Given the description of an element on the screen output the (x, y) to click on. 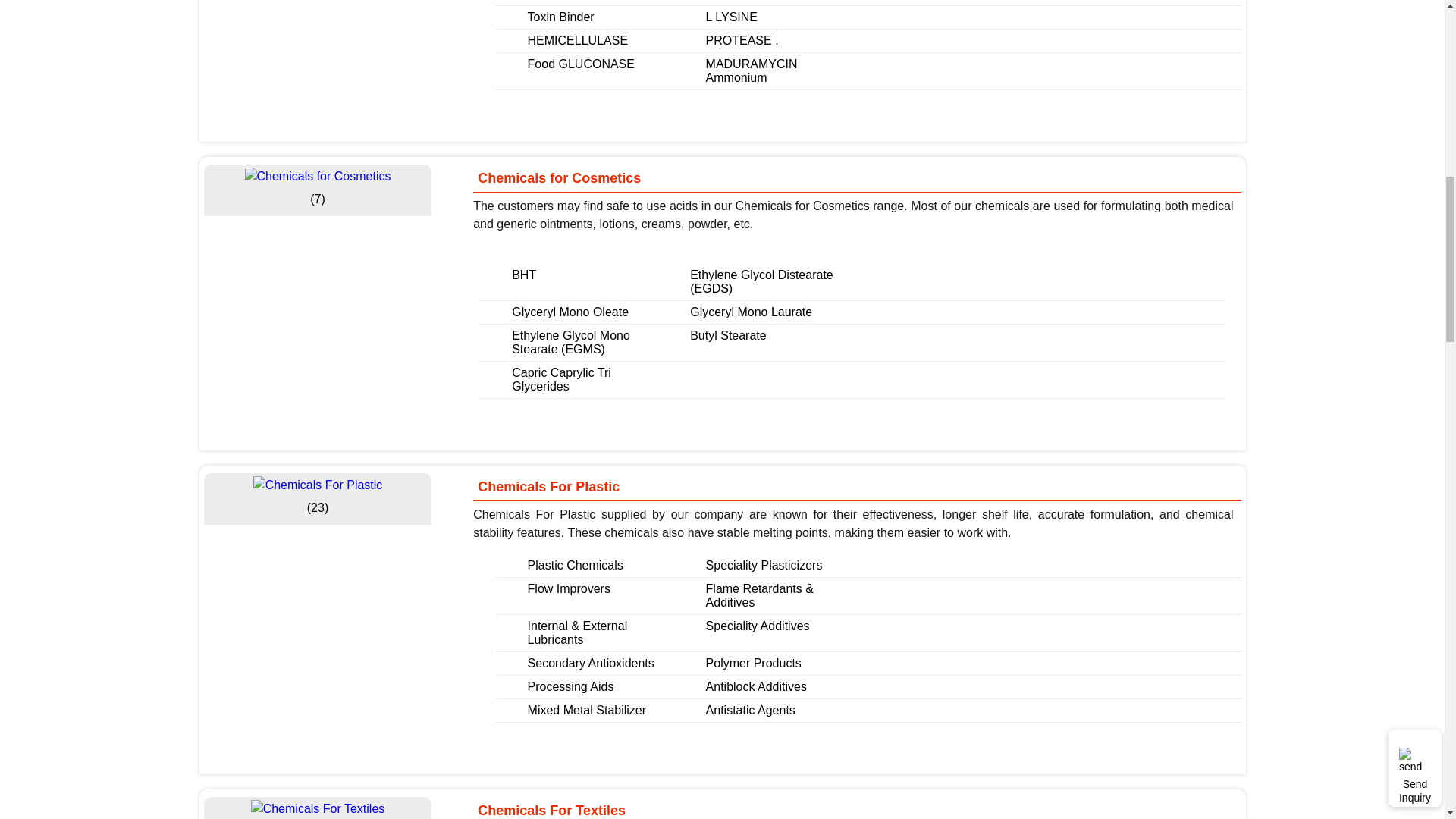
Chemicals For Plastic (317, 484)
Chemicals For Textiles (317, 809)
Chemicals for Cosmetics (317, 176)
